Given the description of an element on the screen output the (x, y) to click on. 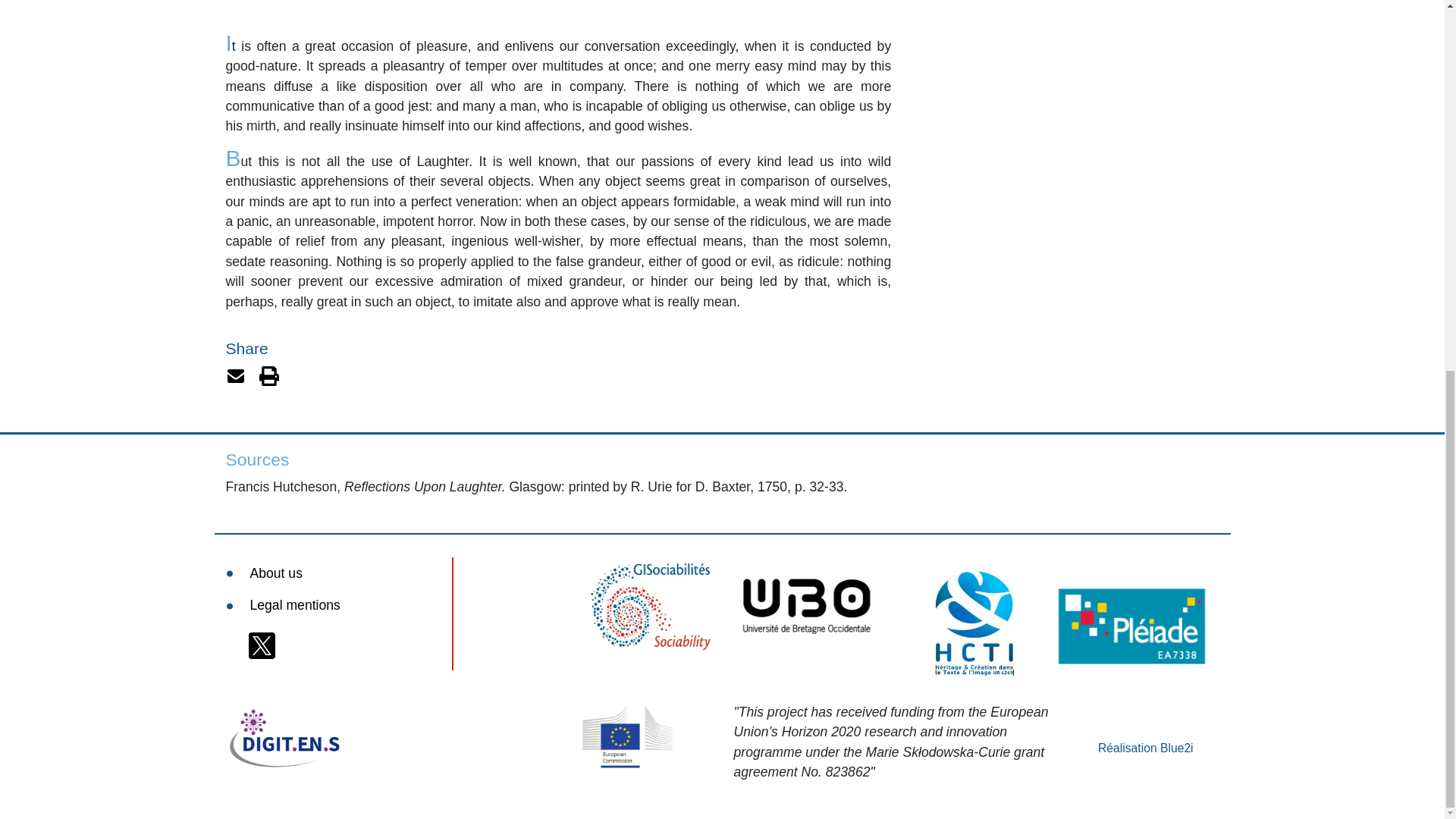
Digitens Twitter (261, 645)
Legal mentions (338, 604)
Partager par Email (236, 375)
About us (338, 572)
Imprimer l'article (268, 375)
